Given the description of an element on the screen output the (x, y) to click on. 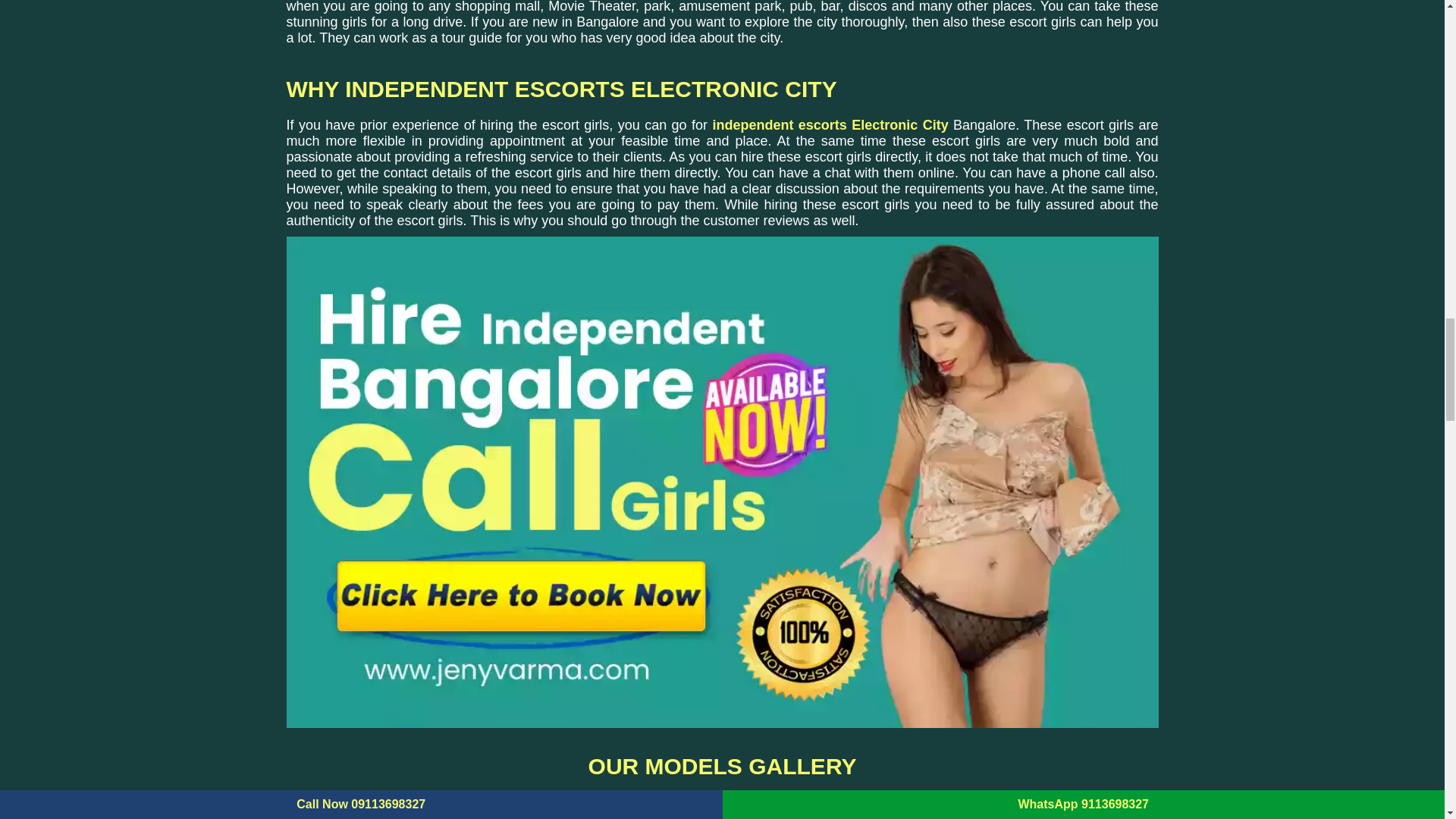
independent escorts Electronic City (829, 124)
Electronic City Sexy Girls WhatsApp Number (1012, 815)
Russian Escorts Electronic City (722, 815)
Electronic City Hosewife Escorts (431, 815)
